Given the description of an element on the screen output the (x, y) to click on. 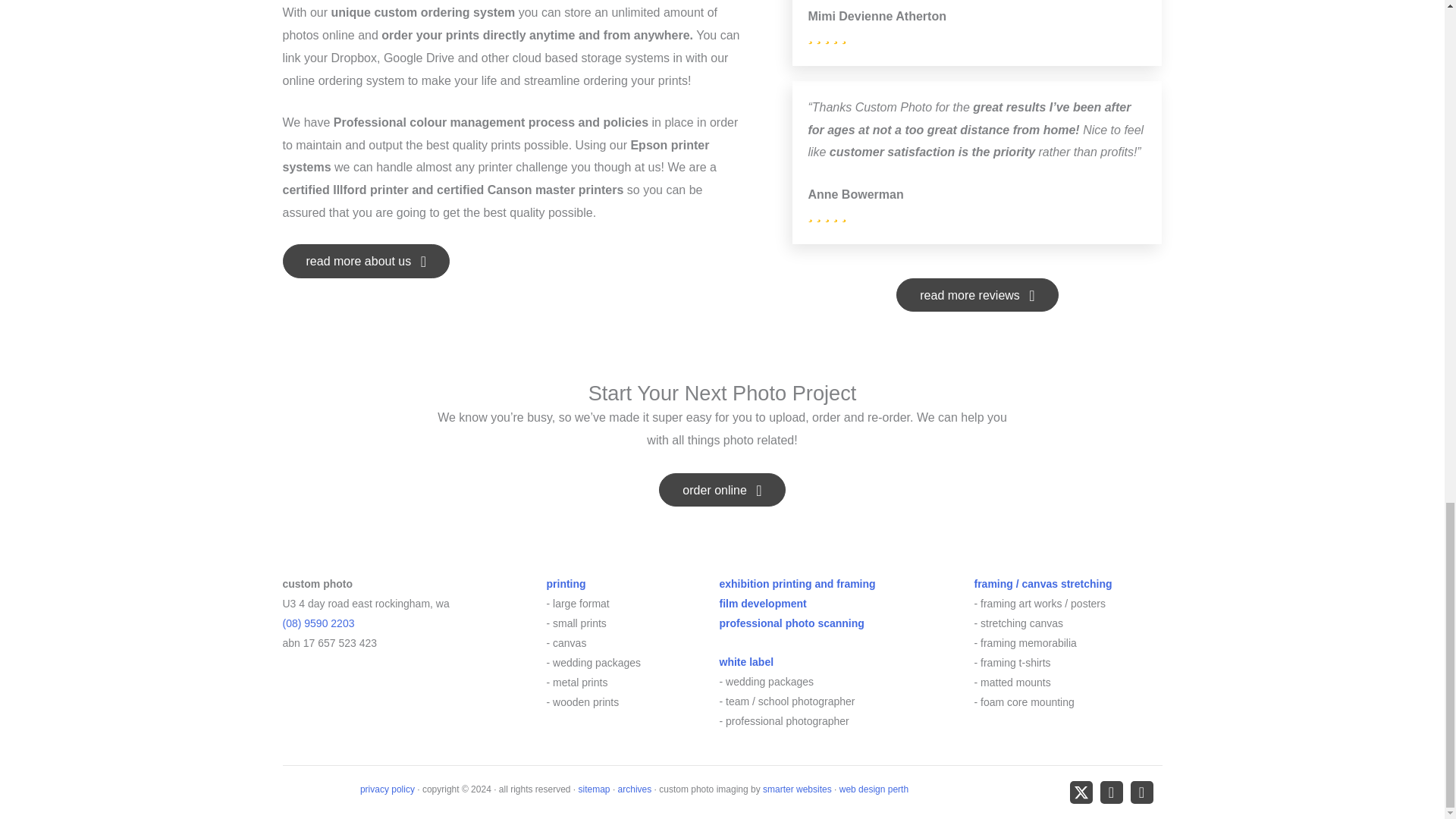
black-trans1 (464, 693)
film development (762, 603)
exhibition printing and framing (797, 583)
read more about us (365, 261)
read more reviews (977, 295)
order online (721, 489)
printing (565, 583)
Instagram (1141, 792)
